Given the description of an element on the screen output the (x, y) to click on. 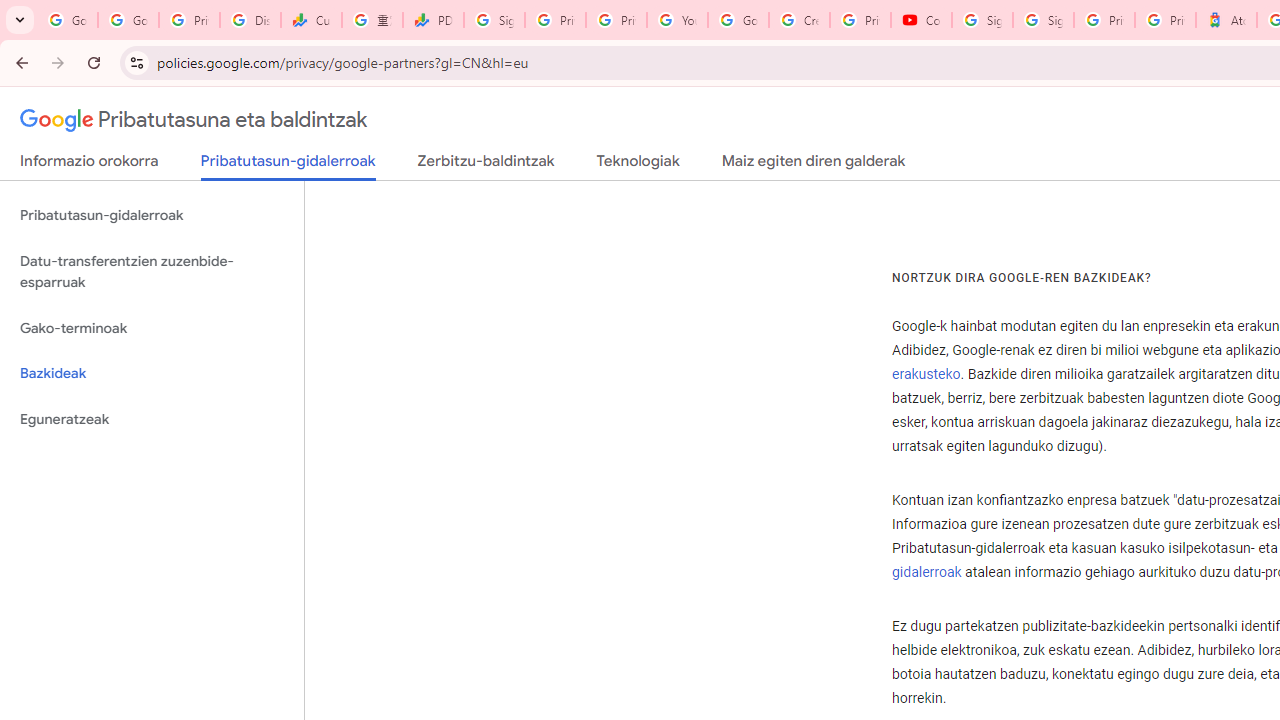
Gako-terminoak (152, 328)
Sign in - Google Accounts (982, 20)
Privacy Checkup (616, 20)
Pribatutasuna eta baldintzak (194, 120)
Content Creator Programs & Opportunities - YouTube Creators (921, 20)
Sign in - Google Accounts (493, 20)
